Given the description of an element on the screen output the (x, y) to click on. 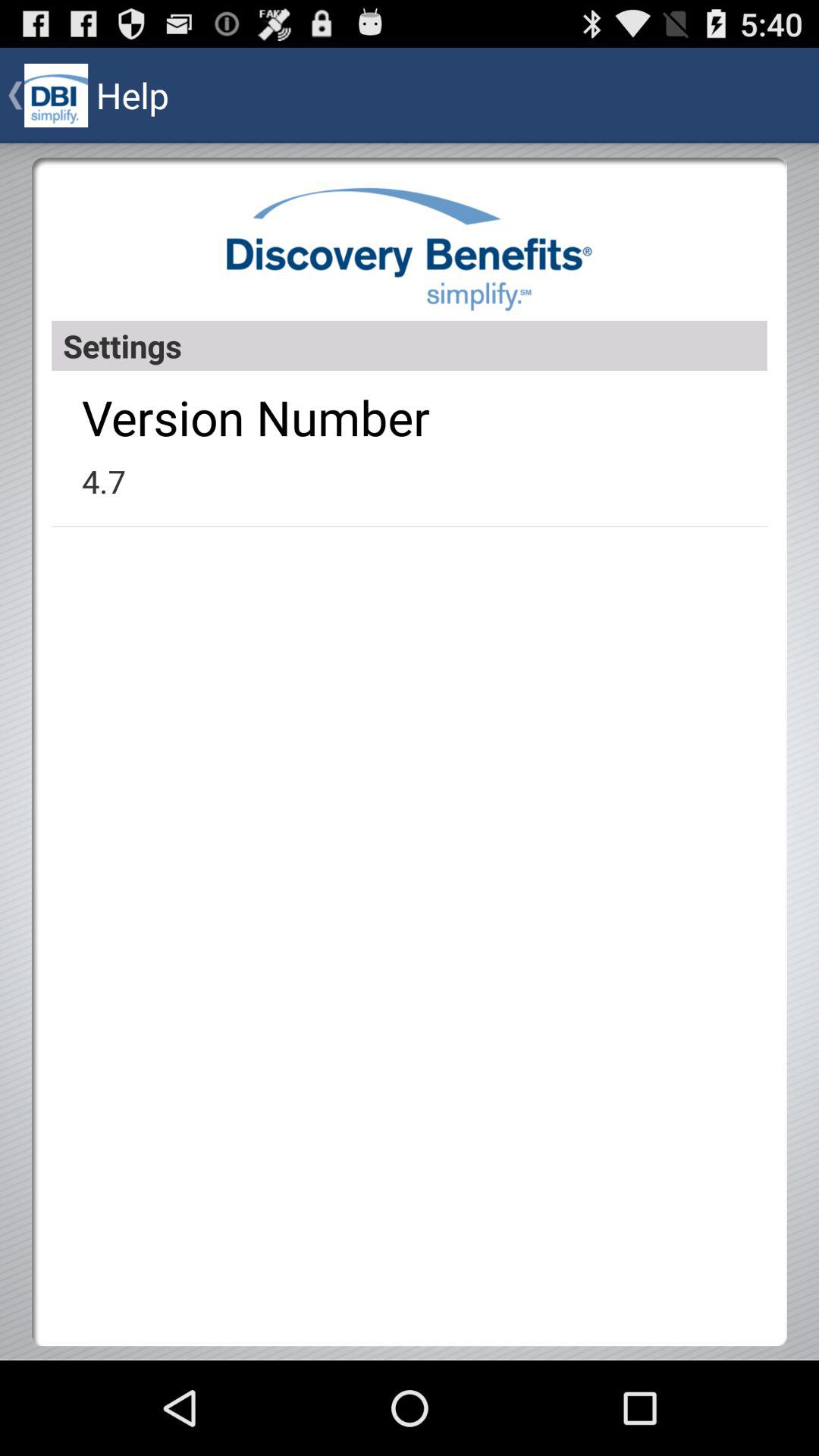
choose the icon above 4.7 app (255, 417)
